Given the description of an element on the screen output the (x, y) to click on. 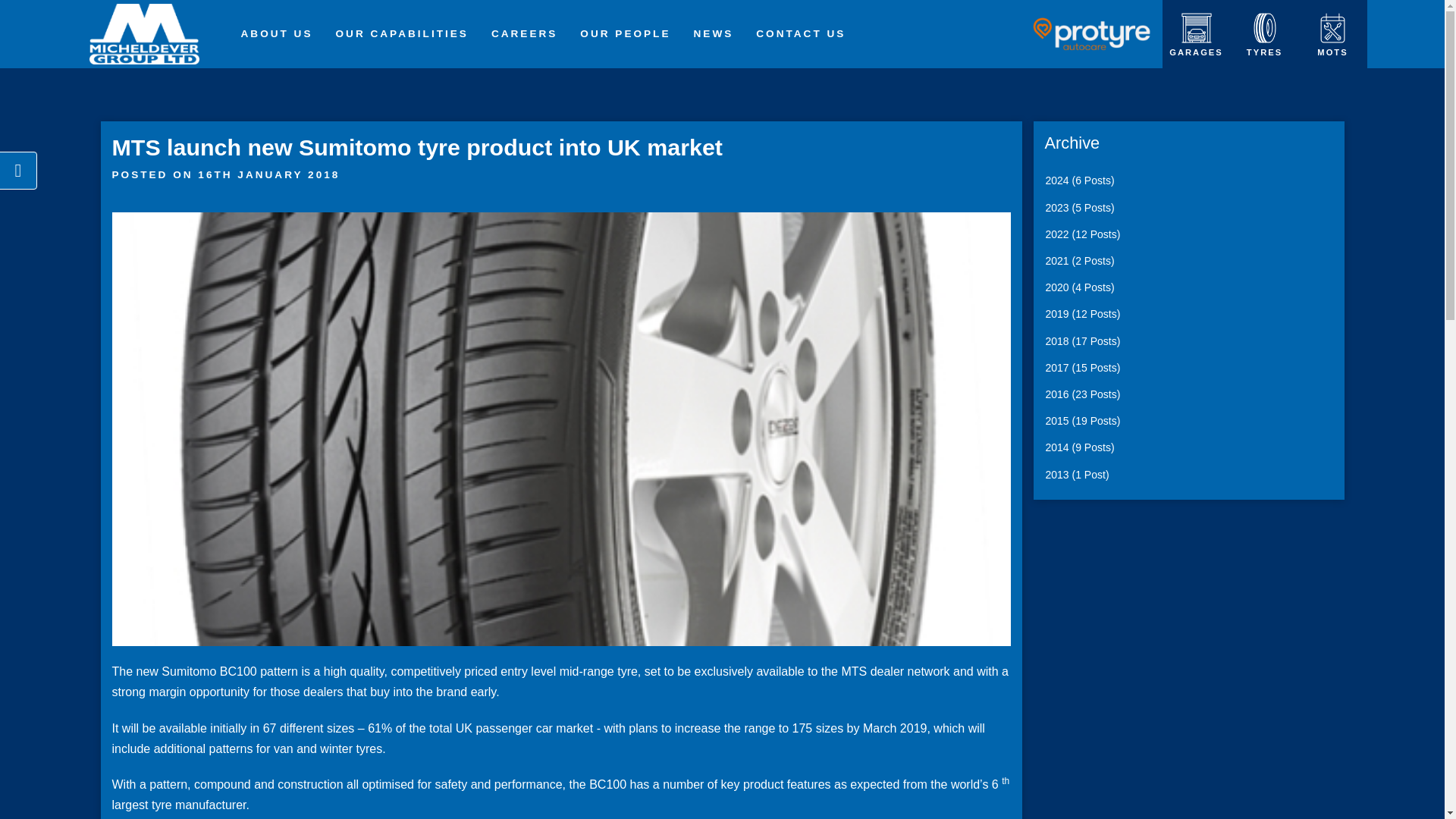
OUR CAPABILITIES (402, 34)
TYRES (1264, 33)
MOTS (1332, 33)
ABOUT US (275, 34)
CONTACT US (800, 34)
NEWS (713, 34)
OUR PEOPLE (625, 34)
CAREERS (524, 34)
GARAGES (1195, 33)
